Given the description of an element on the screen output the (x, y) to click on. 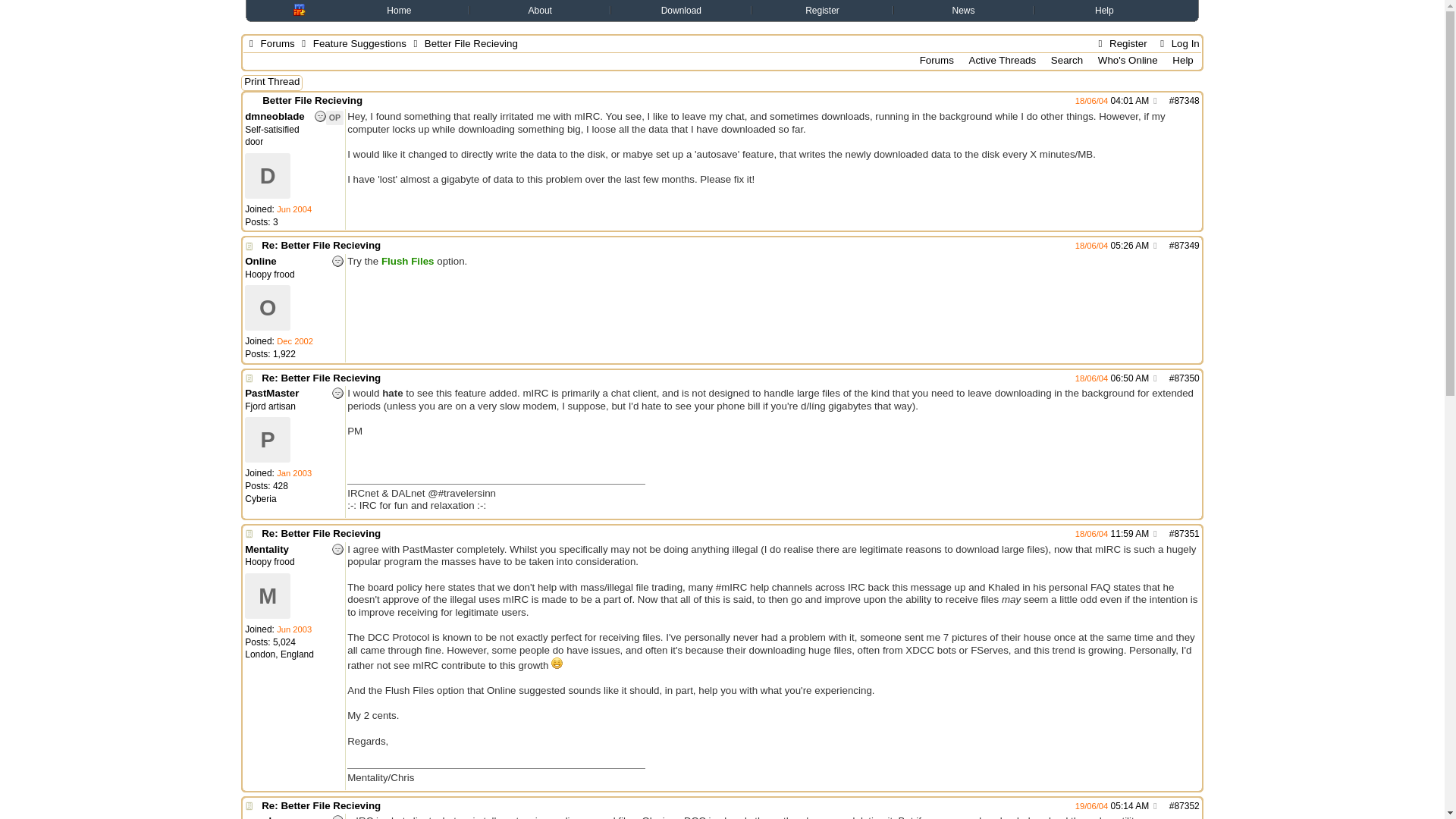
Re: Better File Recieving (321, 244)
News (963, 9)
Forums (936, 60)
Offline (337, 260)
Better File Recieving (312, 100)
Better File Recieving (664, 101)
About (539, 9)
Active Threads (1001, 60)
Offline (320, 116)
Share Post (1154, 245)
Forums (277, 43)
Register (822, 9)
Re: Better File Recieving (664, 533)
Help (1103, 9)
Share Post (1154, 100)
